Given the description of an element on the screen output the (x, y) to click on. 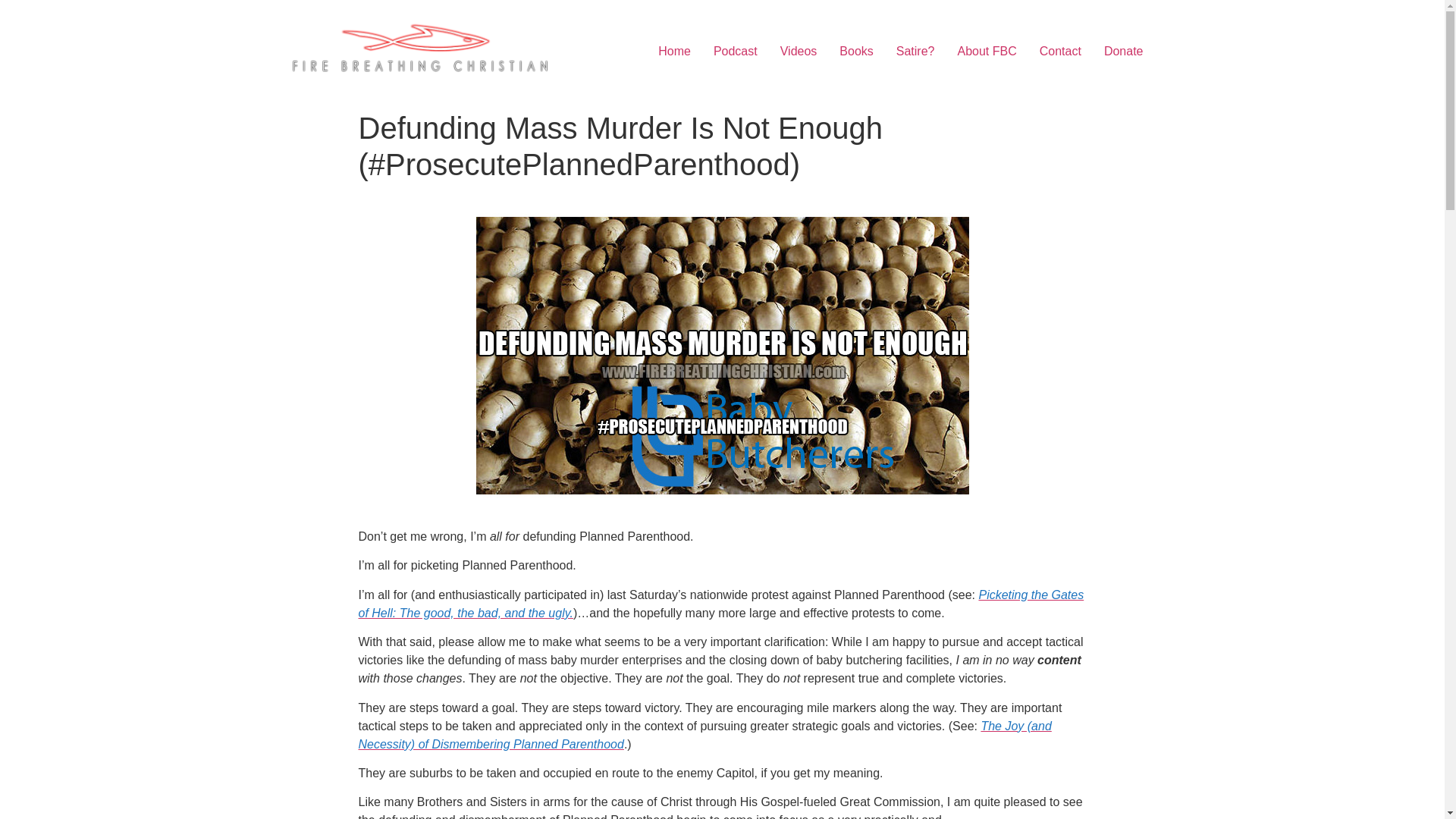
Books (855, 51)
Videos (798, 51)
Podcast (734, 51)
Contact (1060, 51)
About FBC (986, 51)
Home (673, 51)
Donate (1123, 51)
Satire? (915, 51)
